Given the description of an element on the screen output the (x, y) to click on. 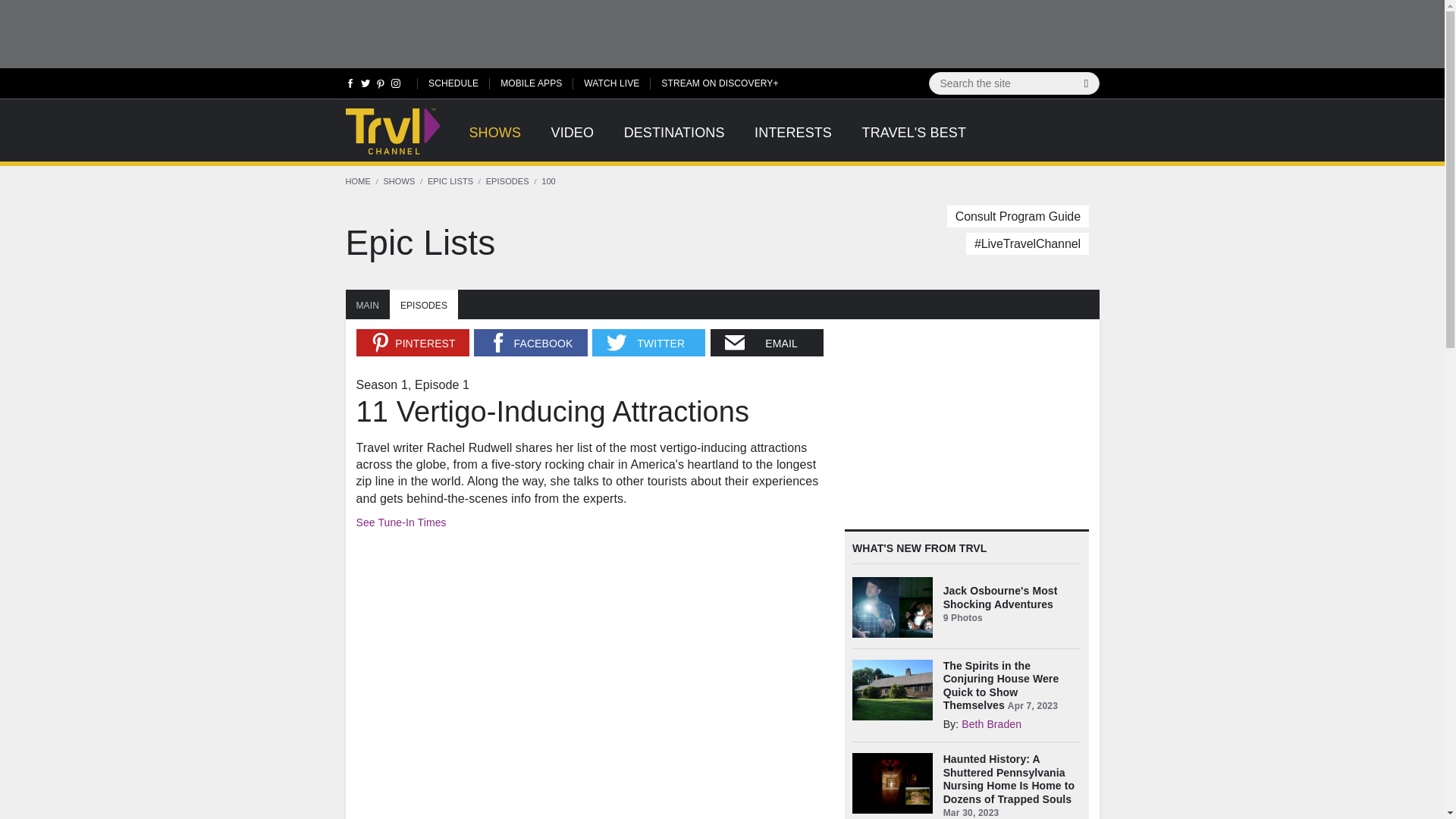
Follow us on Twitter (365, 86)
Share by Email (767, 342)
3rd party ad content (721, 33)
Follow us on Pinterest (380, 86)
Follow us on Facebook (350, 86)
Share on Twitter (648, 342)
SCHEDULE (453, 81)
3rd party ad content (957, 423)
MOBILE APPS (531, 81)
WATCH LIVE (611, 81)
Share on Pinterest (412, 342)
Follow us on Instagram (394, 86)
Share on Facebook (530, 342)
SHOWS (494, 140)
